Given the description of an element on the screen output the (x, y) to click on. 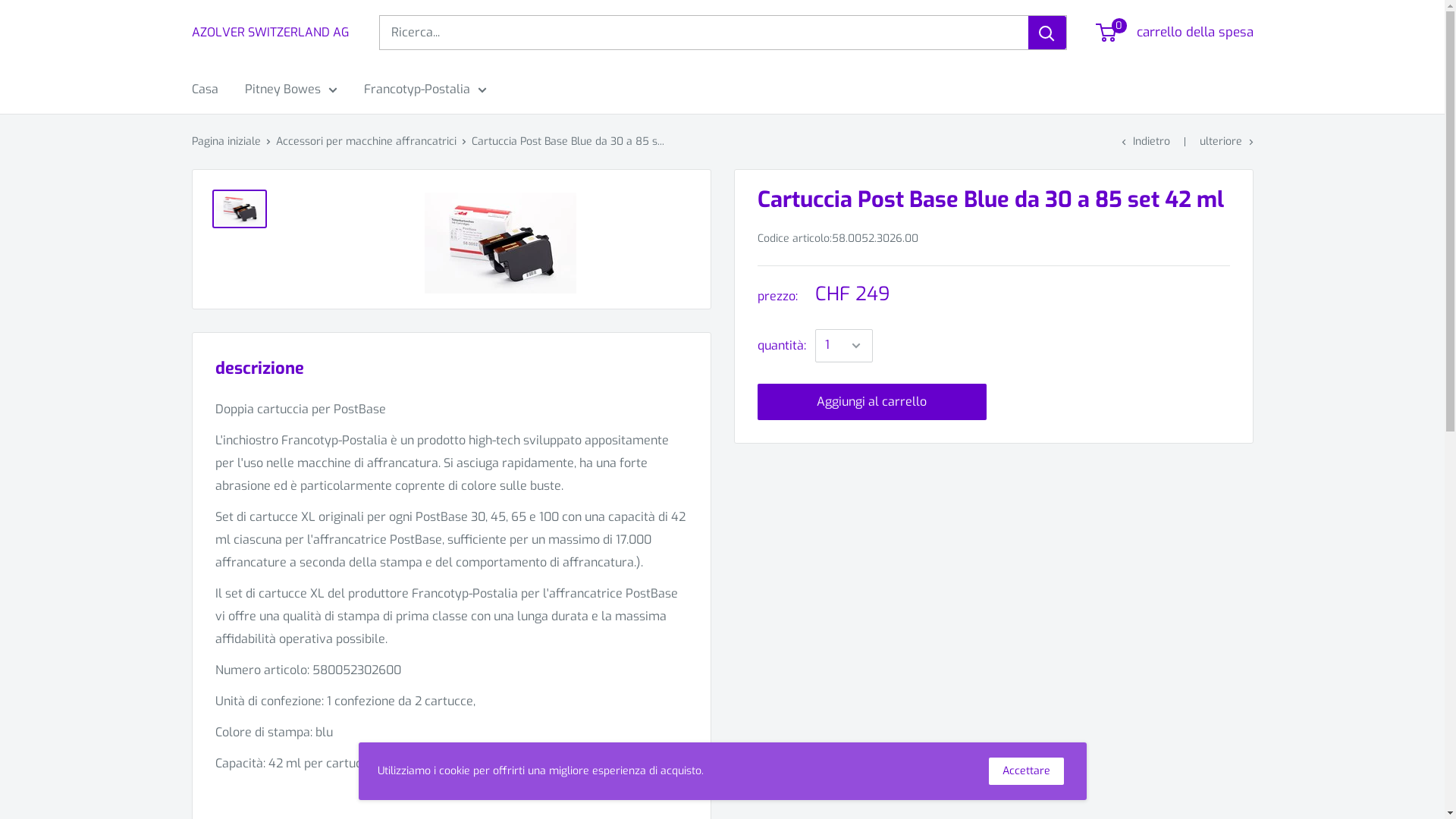
ulteriore Element type: text (1226, 141)
Accettare Element type: text (1025, 770)
Aggiungi al carrello Element type: text (871, 401)
Casa Element type: text (204, 89)
Accessori per macchine affrancatrici Element type: text (366, 141)
Francotyp-Postalia Element type: text (425, 89)
0
carrello della spesa Element type: text (1174, 32)
Pagina iniziale Element type: text (225, 141)
Pitney Bowes Element type: text (290, 89)
Indietro Element type: text (1144, 141)
AZOLVER SWITZERLAND AG Element type: text (269, 32)
